Given the description of an element on the screen output the (x, y) to click on. 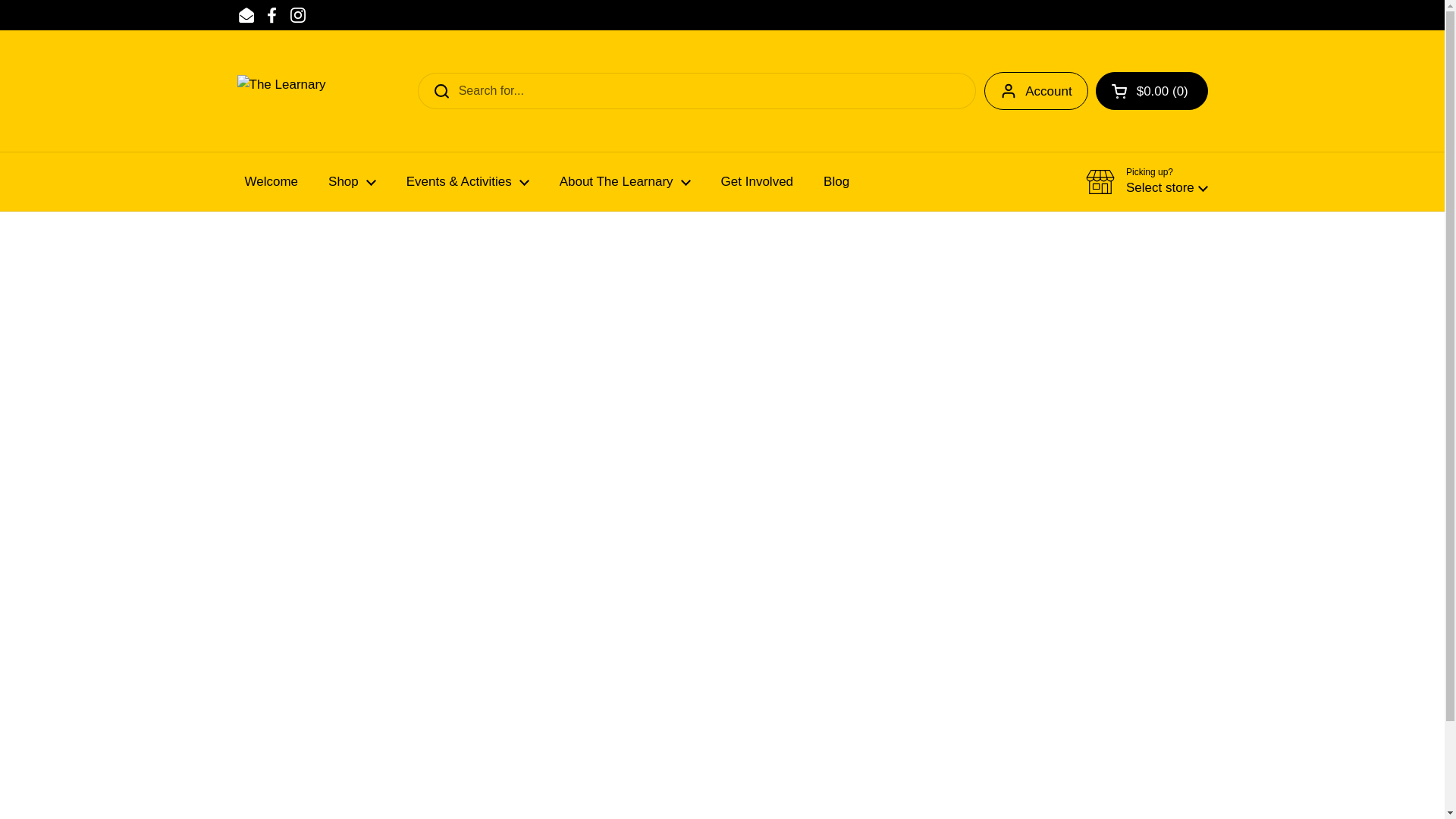
Account (1035, 90)
Shop (352, 181)
Instagram (296, 14)
The Learnary (279, 90)
Facebook (271, 14)
Email (244, 14)
Welcome (270, 181)
Open cart (1152, 90)
